Given the description of an element on the screen output the (x, y) to click on. 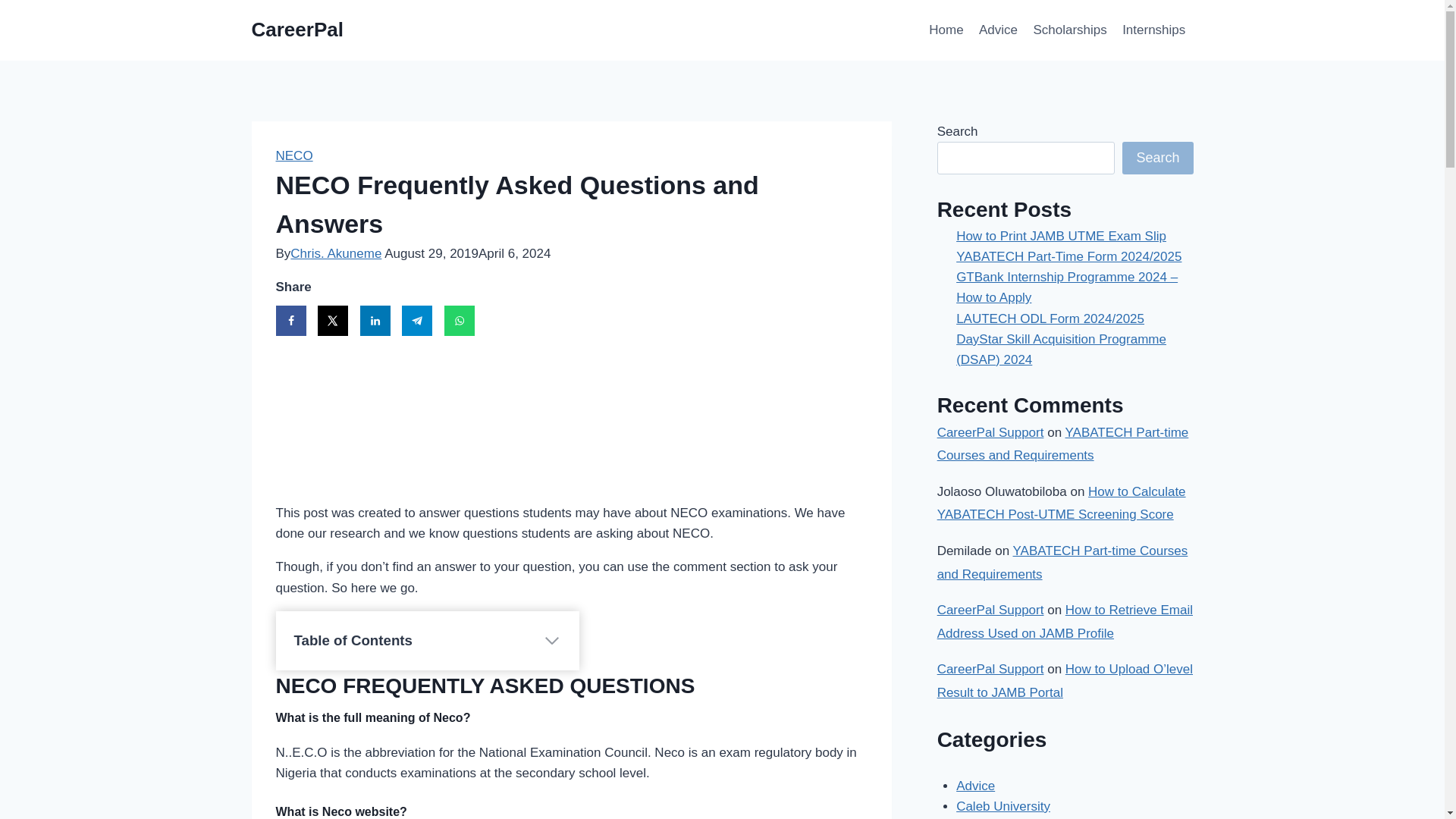
Chris. Akuneme (335, 253)
Share on WhatsApp (459, 320)
Advice (998, 30)
Share on LinkedIn (374, 320)
Scholarships (1070, 30)
Share on X (332, 320)
Share on Telegram (416, 320)
Internships (1154, 30)
CareerPal (297, 29)
Home (946, 30)
NECO (294, 155)
Share on Facebook (290, 320)
